Given the description of an element on the screen output the (x, y) to click on. 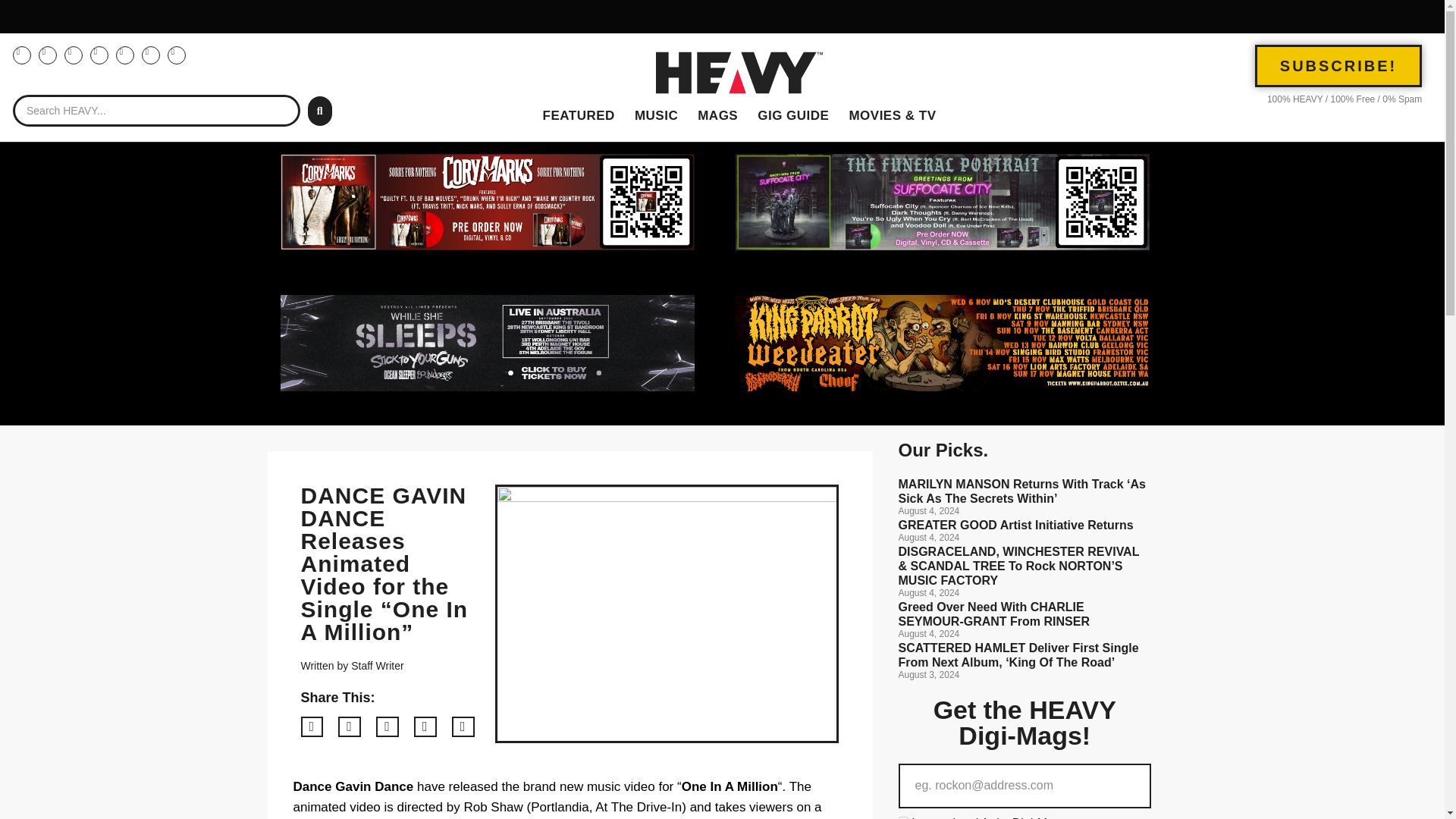
Heavy Music (655, 115)
GIG GUIDE (793, 115)
SUBSCRIBE! (1338, 65)
FEATURED (578, 115)
MUSIC (655, 115)
MAGS (717, 115)
